Given the description of an element on the screen output the (x, y) to click on. 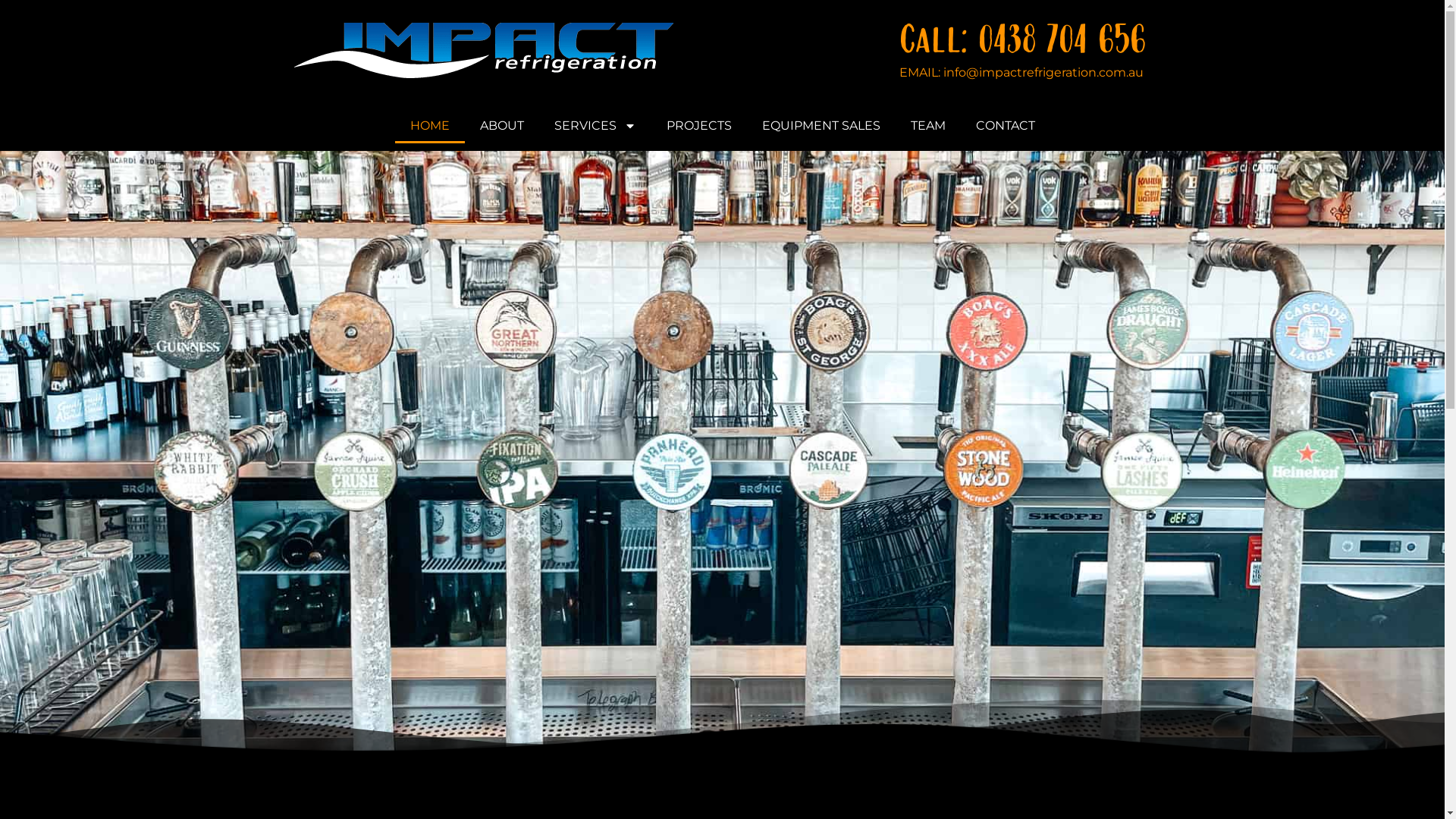
info@impactrefrigeration.com.au Element type: text (1043, 72)
TEAM Element type: text (927, 125)
EQUIPMENT SALES Element type: text (820, 125)
CONTACT Element type: text (1004, 125)
PROJECTS Element type: text (698, 125)
SERVICES Element type: text (594, 125)
HOME Element type: text (429, 125)
ABOUT Element type: text (501, 125)
0438 704 656 Element type: text (1061, 40)
